Given the description of an element on the screen output the (x, y) to click on. 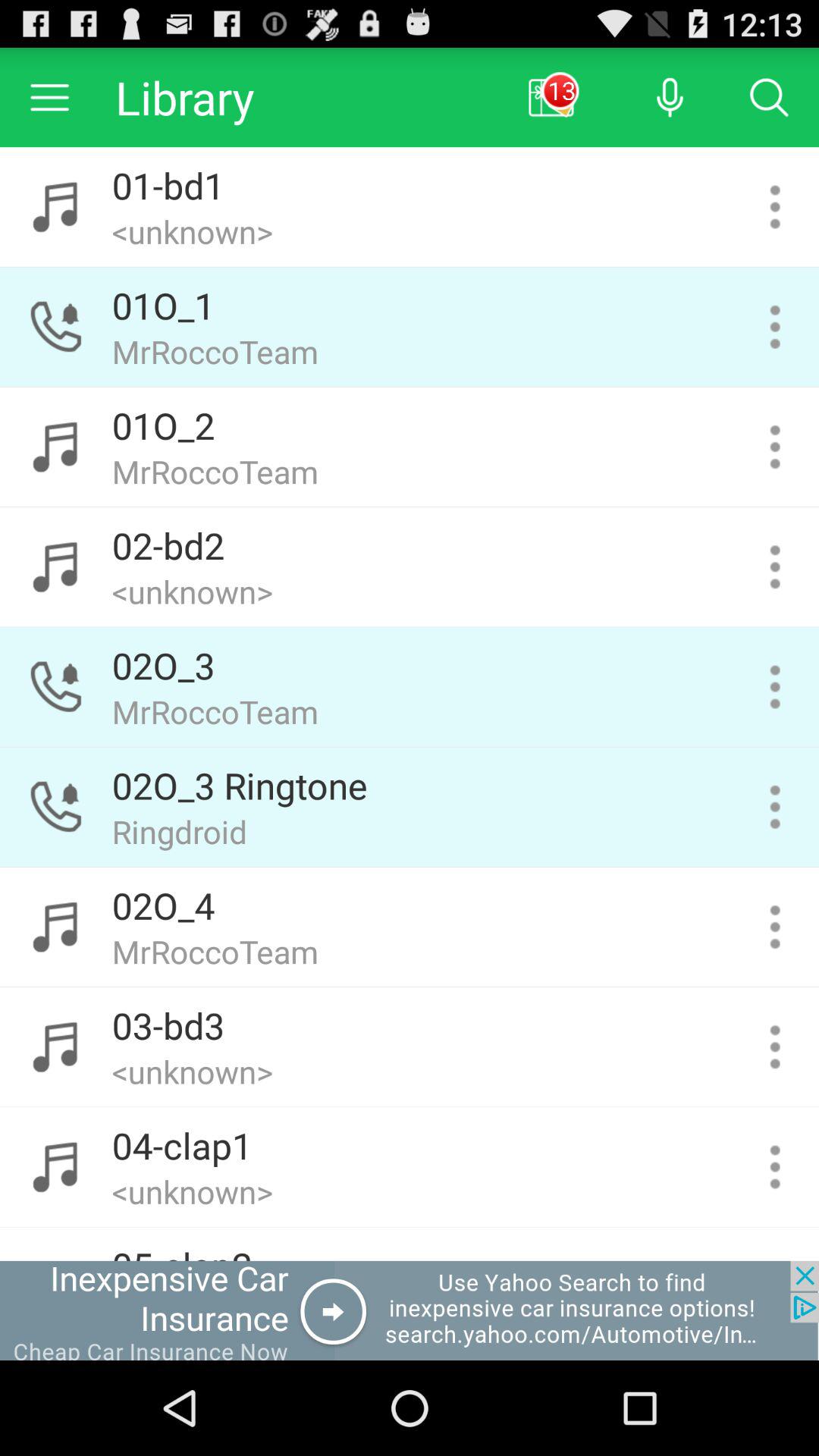
tab for selected sound (775, 1166)
